Given the description of an element on the screen output the (x, y) to click on. 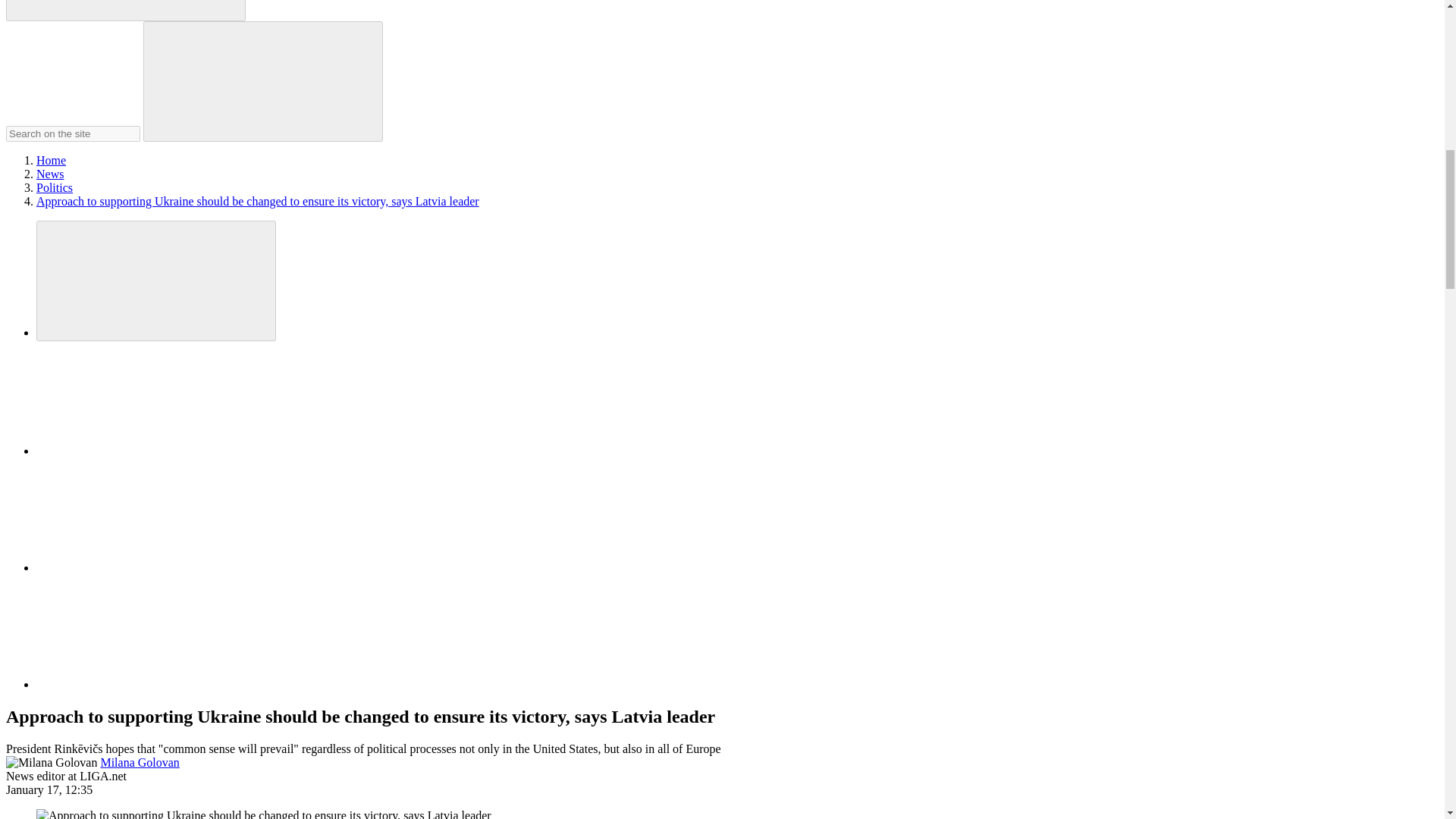
Politics (54, 187)
Home (50, 160)
News (50, 173)
Milana Golovan (51, 762)
Milana Golovan (139, 762)
